Given the description of an element on the screen output the (x, y) to click on. 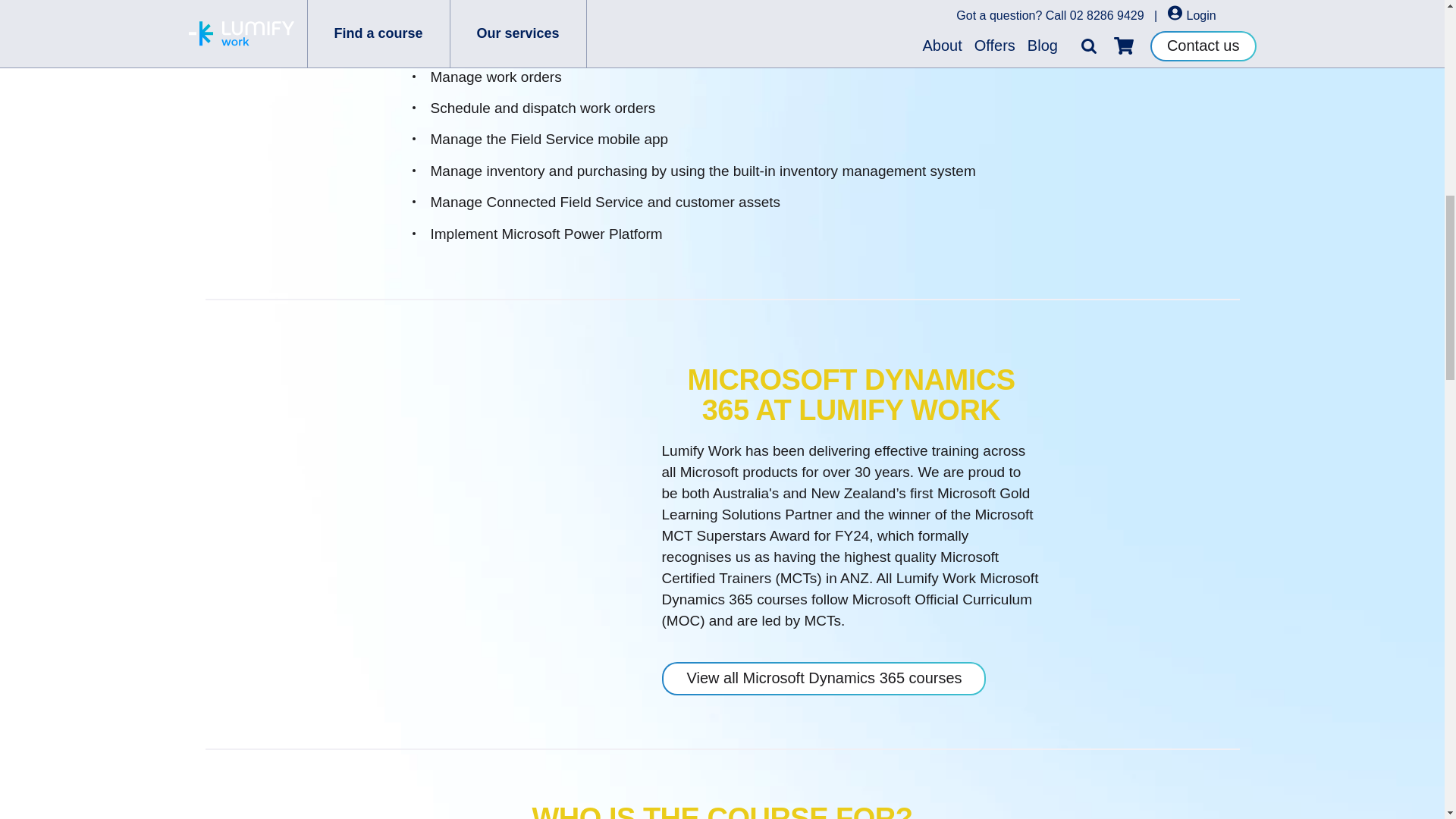
View all Microsoft Dynamics 365 courses (823, 678)
